Given the description of an element on the screen output the (x, y) to click on. 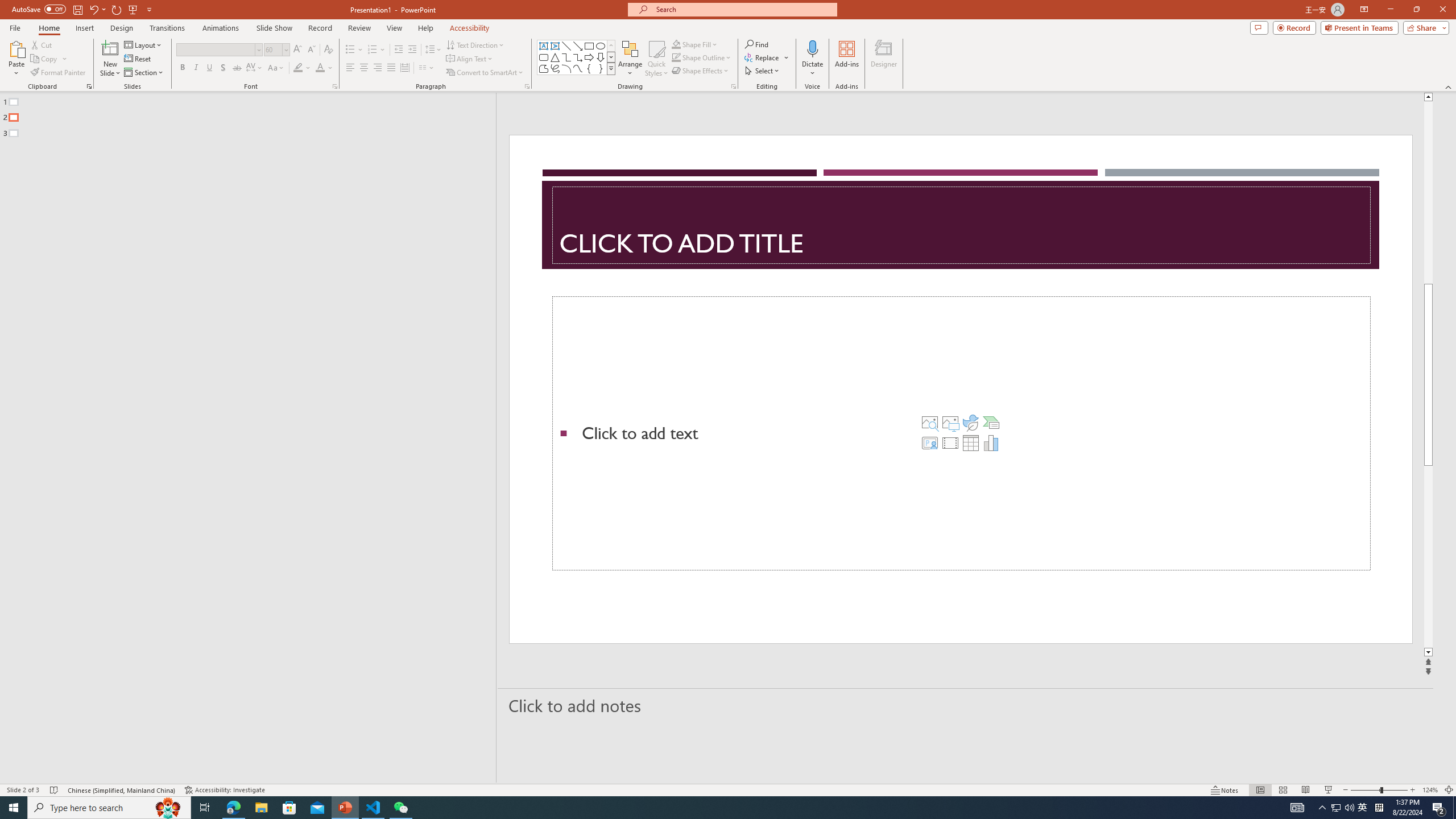
Insert an Icon (970, 422)
Zoom 124% (1430, 790)
Insert Chart (991, 443)
Insert Cameo (929, 443)
